Given the description of an element on the screen output the (x, y) to click on. 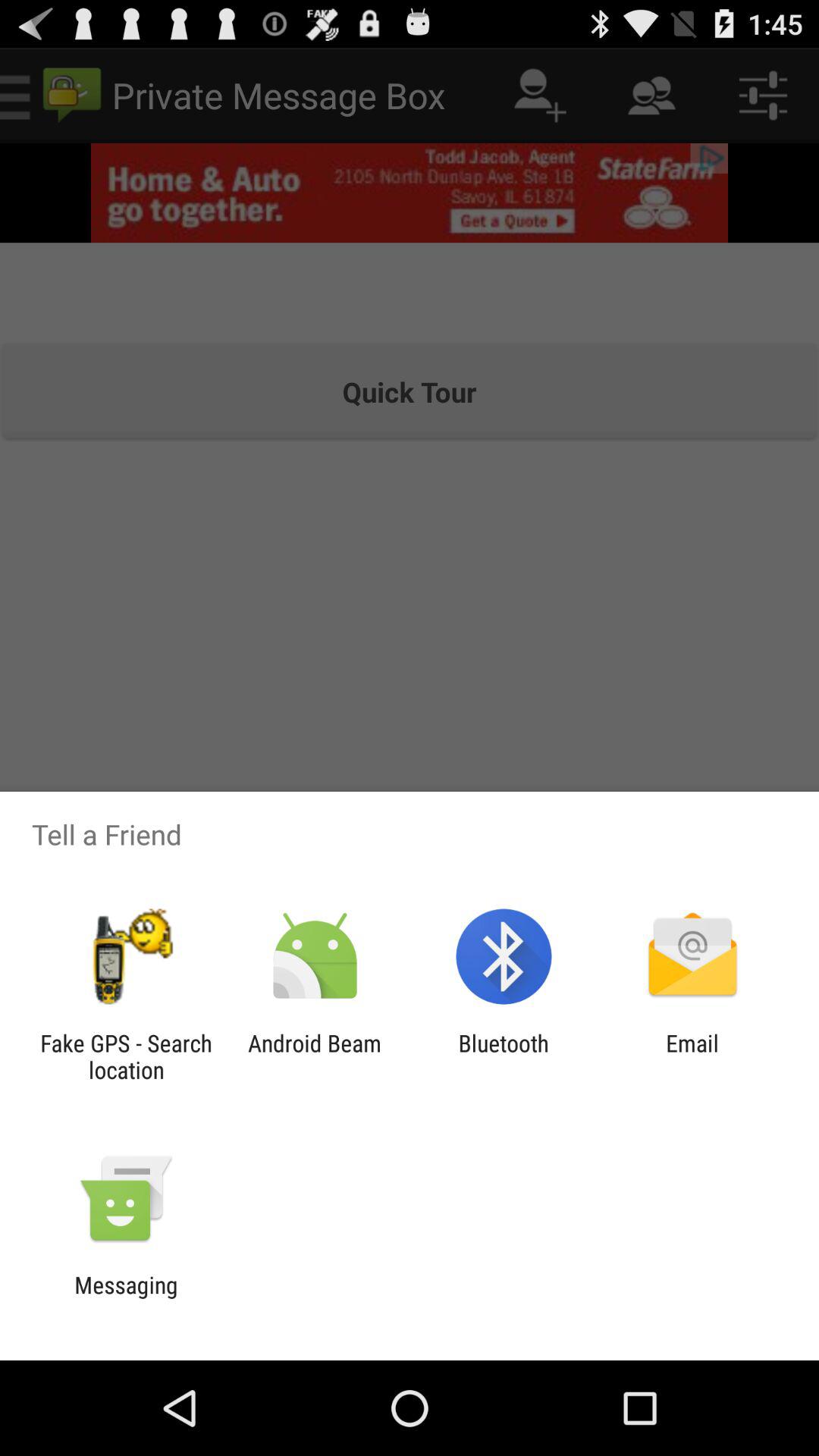
open the icon to the right of the android beam icon (503, 1056)
